Given the description of an element on the screen output the (x, y) to click on. 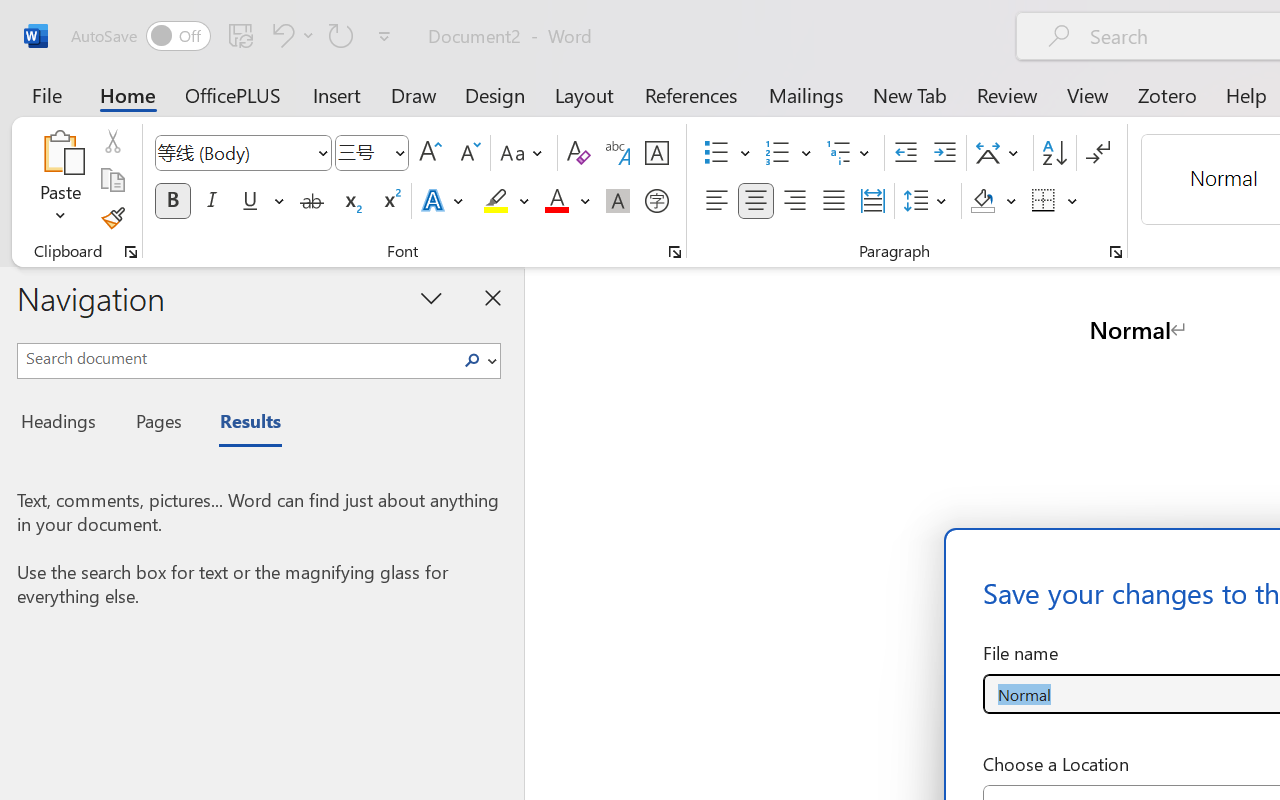
Quick Access Toolbar (233, 36)
Sort... (1054, 153)
Review (1007, 94)
Numbering (778, 153)
Show/Hide Editing Marks (1098, 153)
File Tab (46, 94)
Font (242, 153)
Font Size (372, 153)
Task Pane Options (431, 297)
Copy (112, 179)
Undo Style (280, 35)
Draw (413, 94)
Home (127, 94)
Phonetic Guide... (618, 153)
Align Left (716, 201)
